Given the description of an element on the screen output the (x, y) to click on. 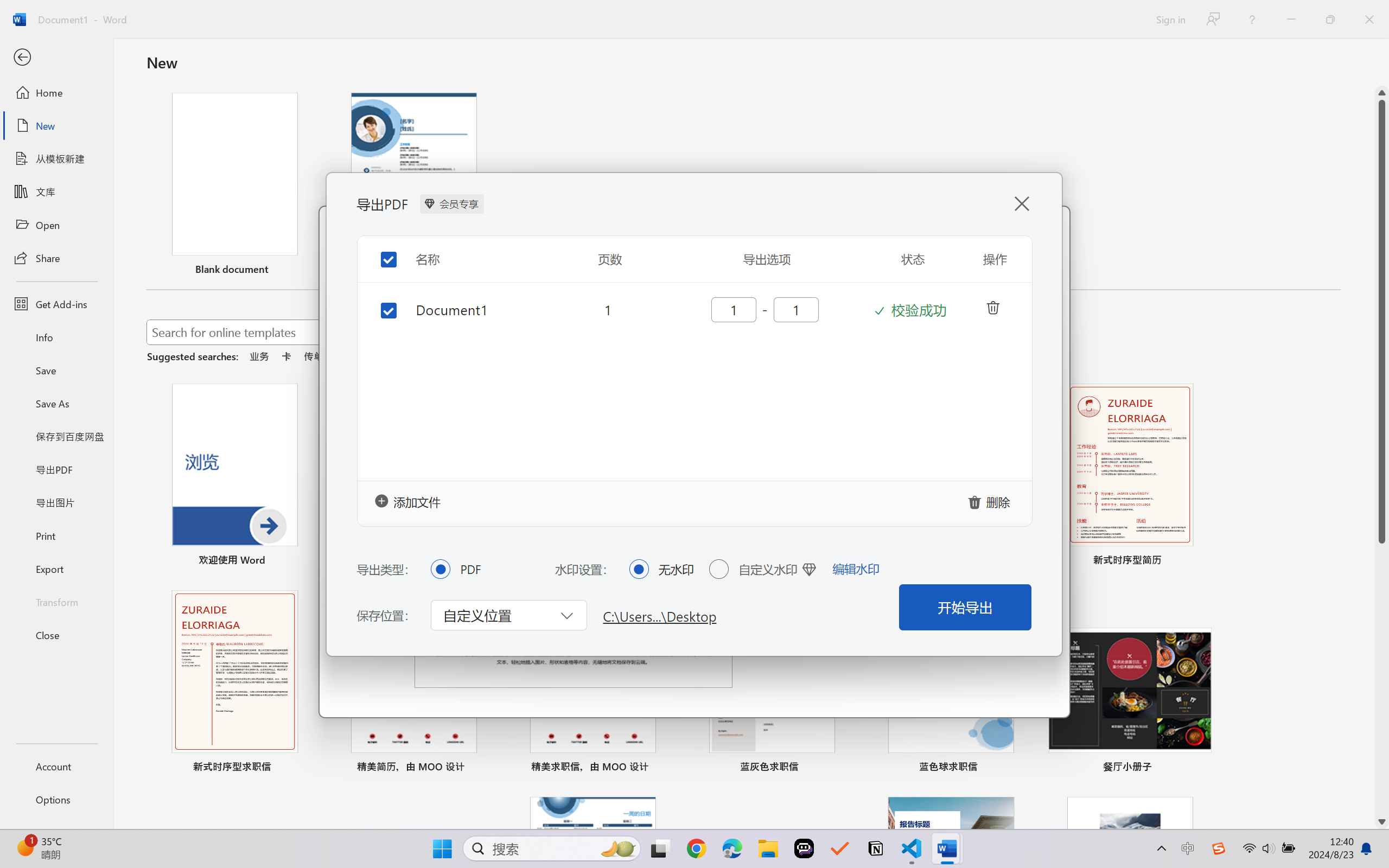
Save As (56, 403)
Toggle selection for all items (380, 250)
select row (380, 308)
Line down (1382, 821)
